Given the description of an element on the screen output the (x, y) to click on. 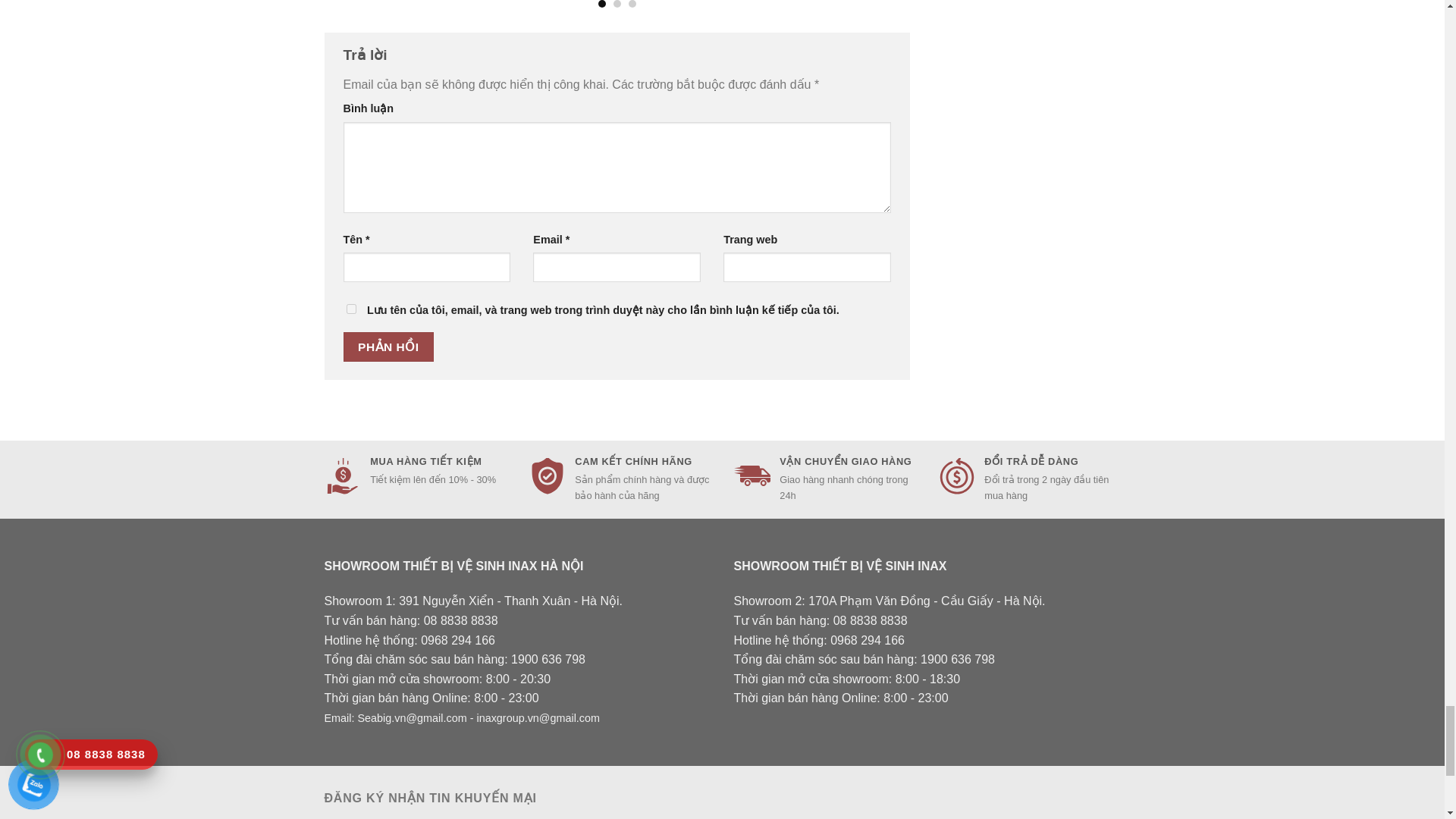
yes (350, 308)
